Given the description of an element on the screen output the (x, y) to click on. 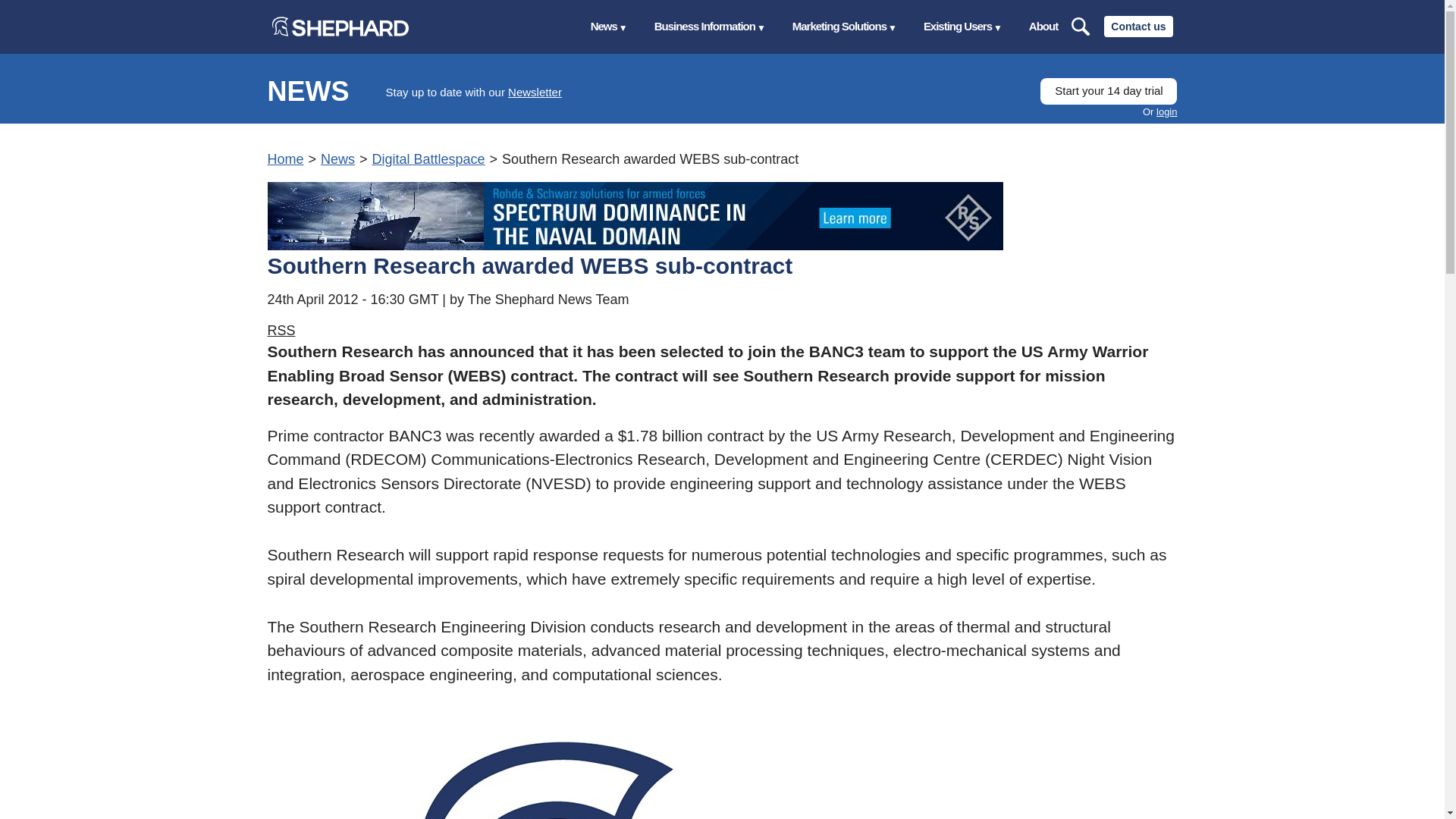
login (1166, 111)
Shephard (338, 26)
Contact us (1137, 25)
Start your 14 day trial (1108, 90)
3rd party ad content (634, 215)
Newsletter (535, 91)
About (1042, 27)
Login (1166, 111)
Digital Battlespace RSS Feed (280, 330)
Start a trial subscription (1108, 90)
